Given the description of an element on the screen output the (x, y) to click on. 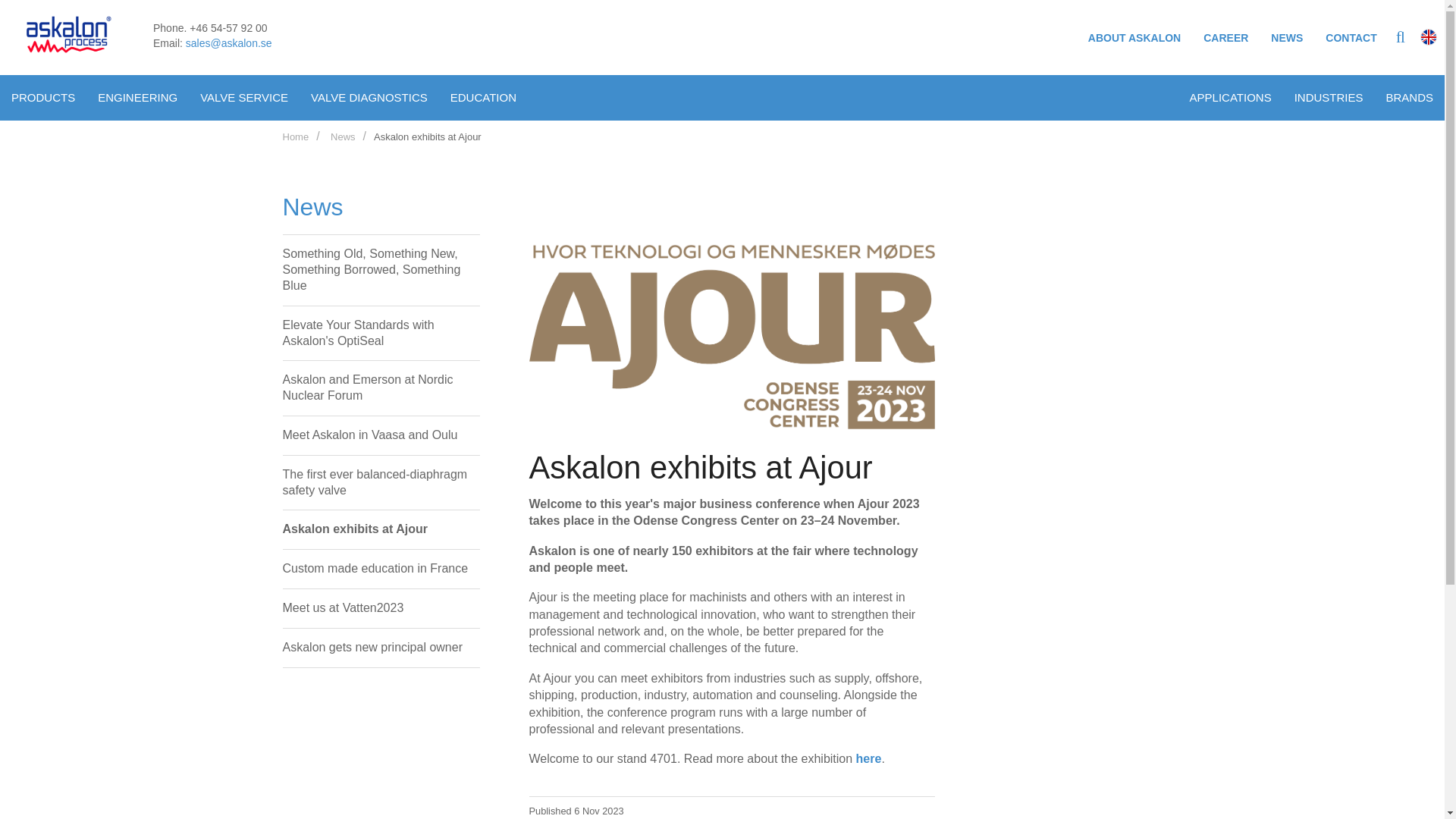
CAREER (1225, 37)
CONTACT (1350, 37)
NEWS (1286, 37)
PRODUCTS (42, 97)
ABOUT ASKALON (1134, 37)
